Given the description of an element on the screen output the (x, y) to click on. 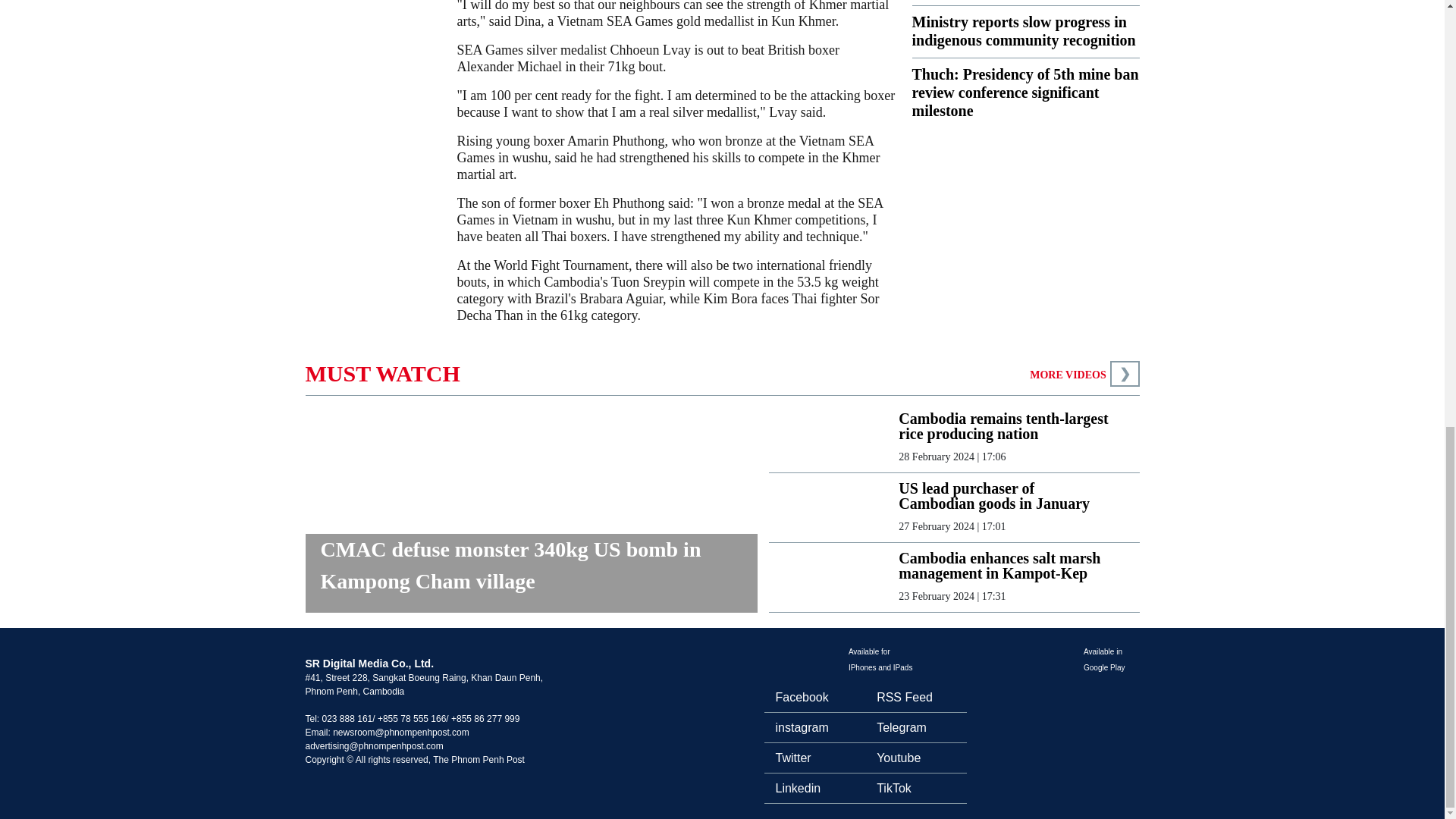
Cambodia remains tenth-largest rice producing nation (1005, 426)
MORE VIDEOS (1067, 374)
CMAC defuse monster 340kg US bomb in Kampong Cham village (530, 572)
